Given the description of an element on the screen output the (x, y) to click on. 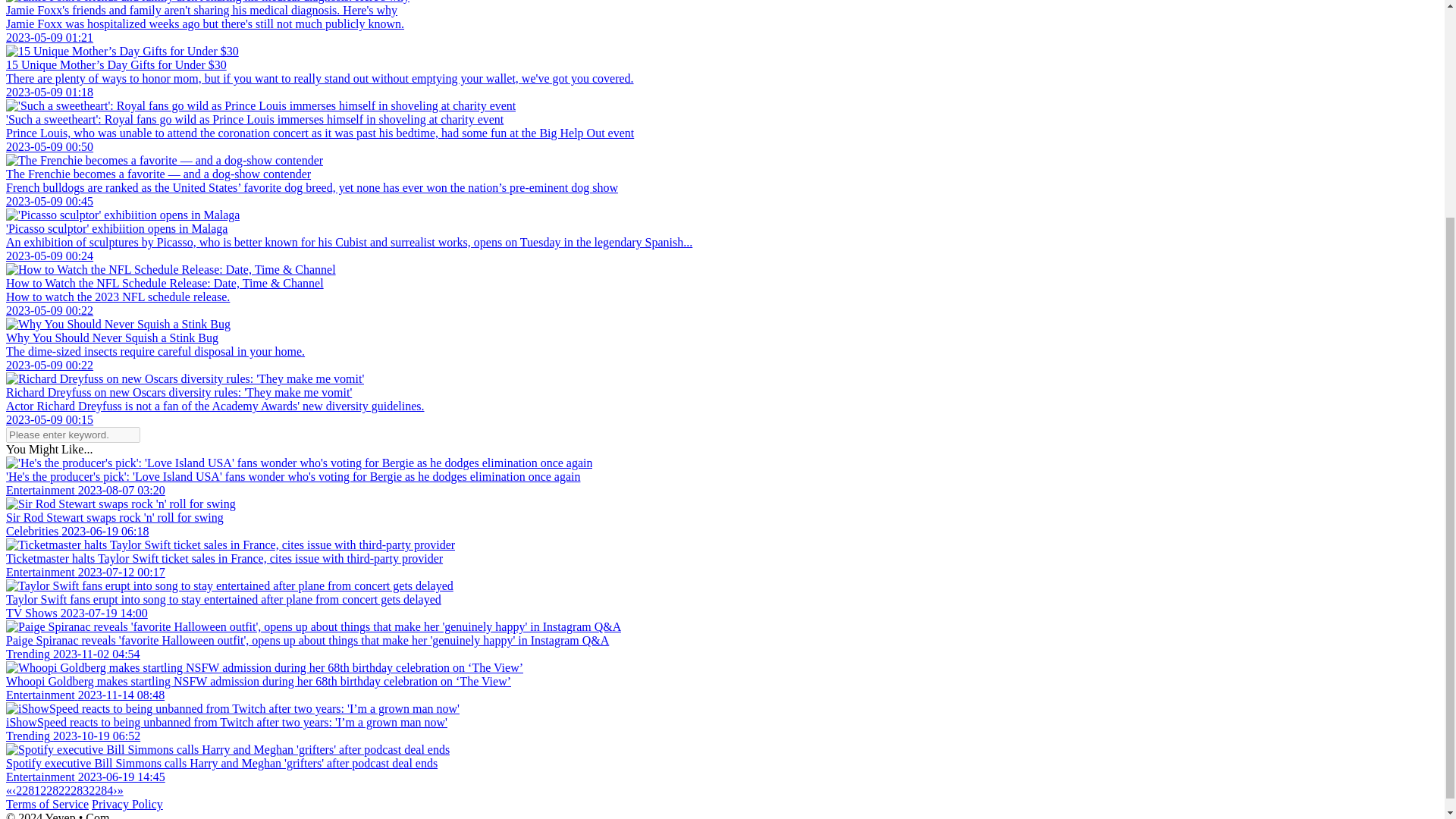
2281 (28, 789)
2284 (100, 789)
2283 (76, 789)
2282 (52, 789)
Privacy Policy (127, 803)
Terms of Service (46, 803)
